Given the description of an element on the screen output the (x, y) to click on. 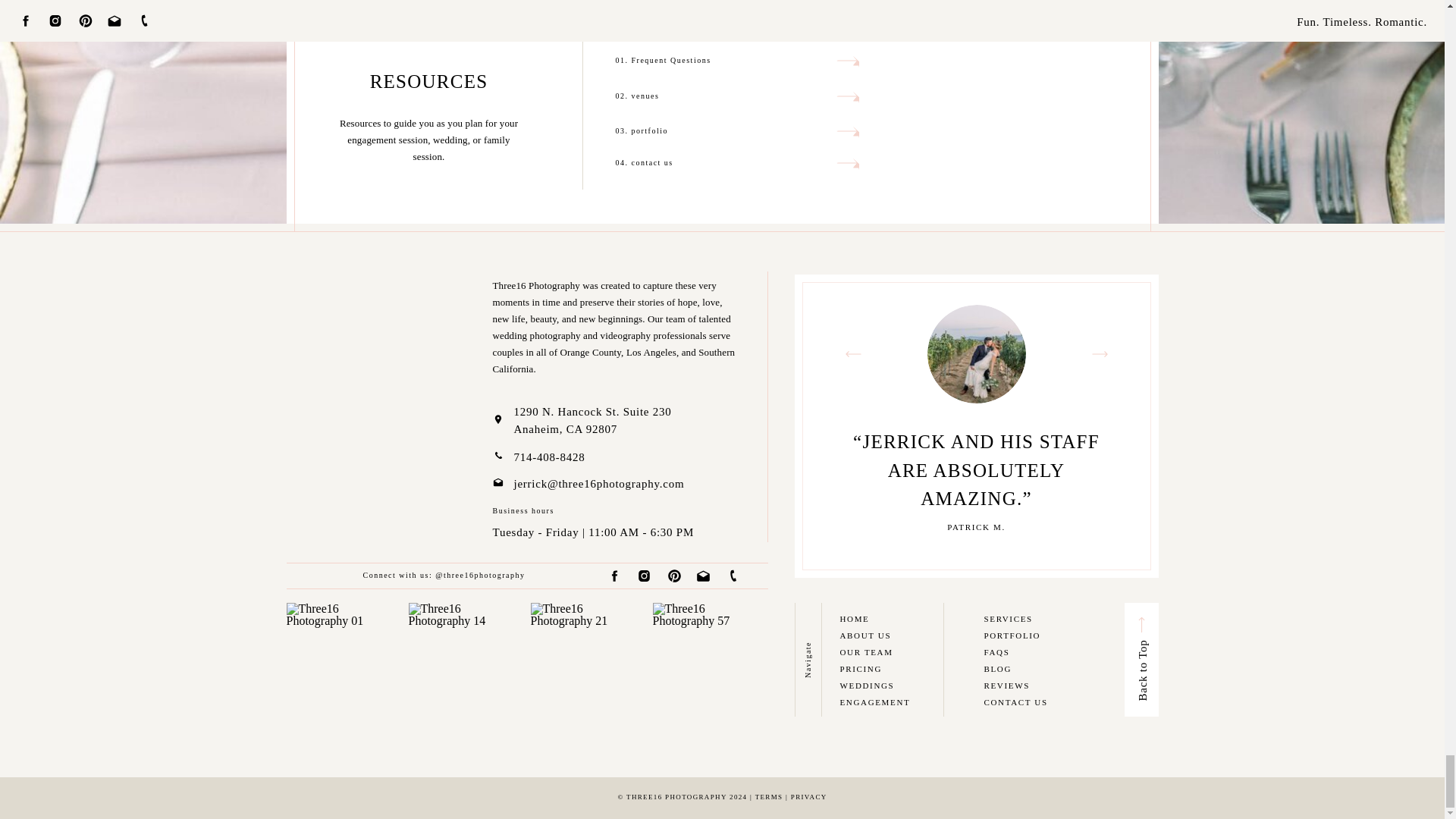
Three16 Photography 14 (464, 659)
Three16 Photography 01 (343, 659)
Created by potrace 1.15, written by Peter Selinger 2001-2017 (847, 162)
Created by potrace 1.15, written by Peter Selinger 2001-2017 (847, 130)
Three16 Photography 21 (588, 659)
Created by potrace 1.15, written by Peter Selinger 2001-2017 (847, 96)
